Given the description of an element on the screen output the (x, y) to click on. 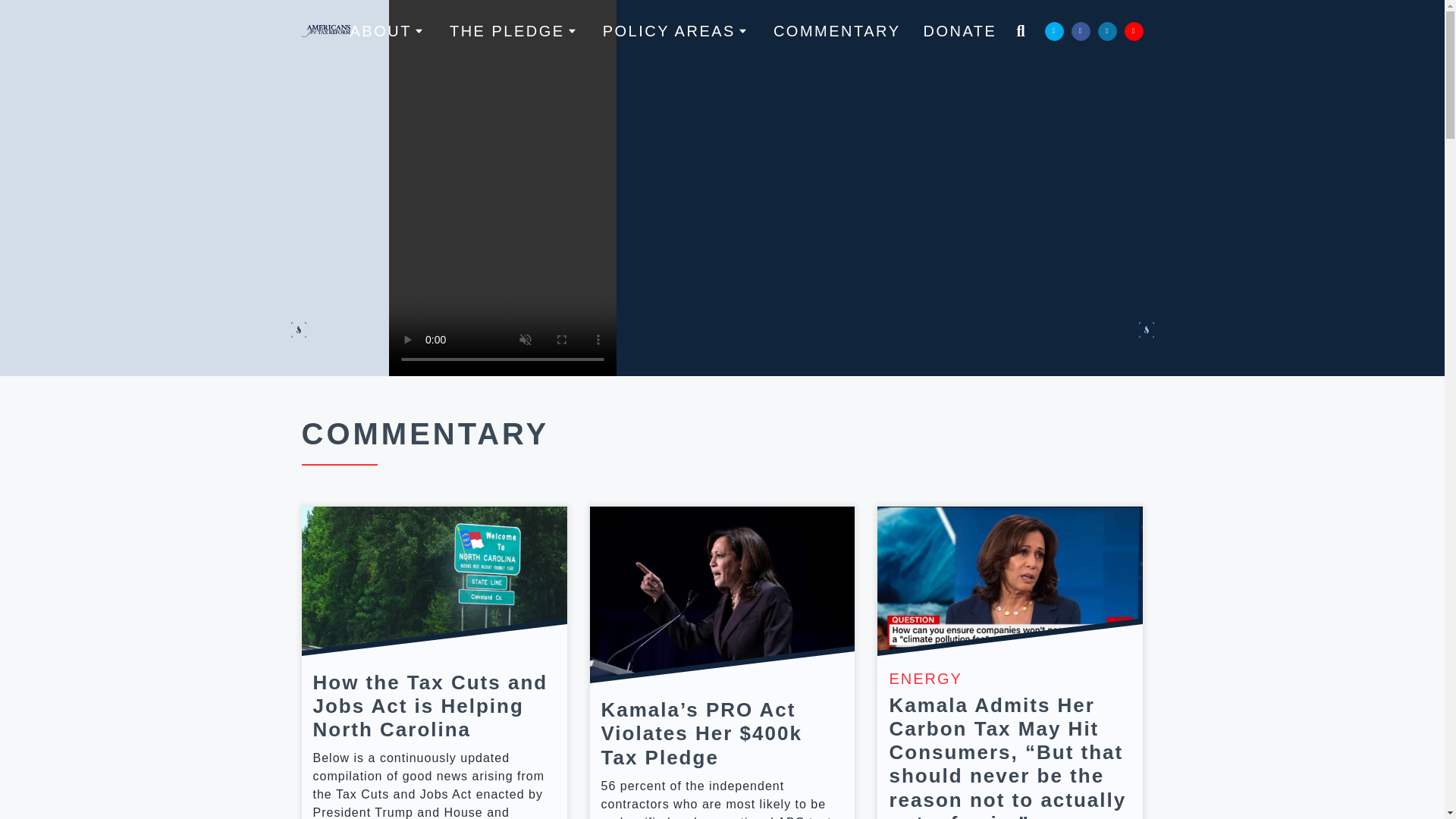
POLICY AREAS (676, 30)
Twitter (1054, 30)
DONATE (960, 30)
Facebook (1079, 30)
COMMENTARY (837, 30)
LinkedIn (1106, 30)
THE PLEDGE (514, 30)
ABOUT (388, 30)
YouTube (1133, 30)
